Given the description of an element on the screen output the (x, y) to click on. 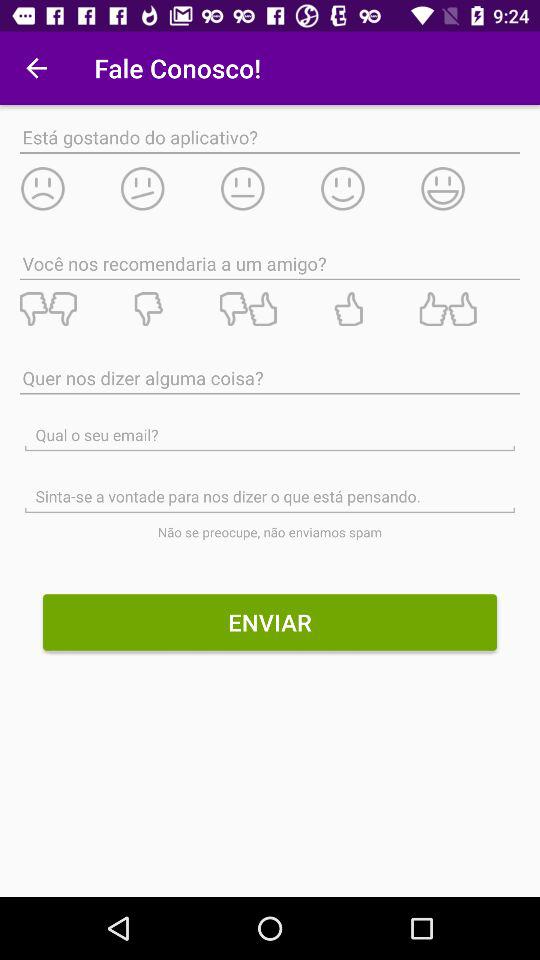
un poco infeliz (169, 188)
